Given the description of an element on the screen output the (x, y) to click on. 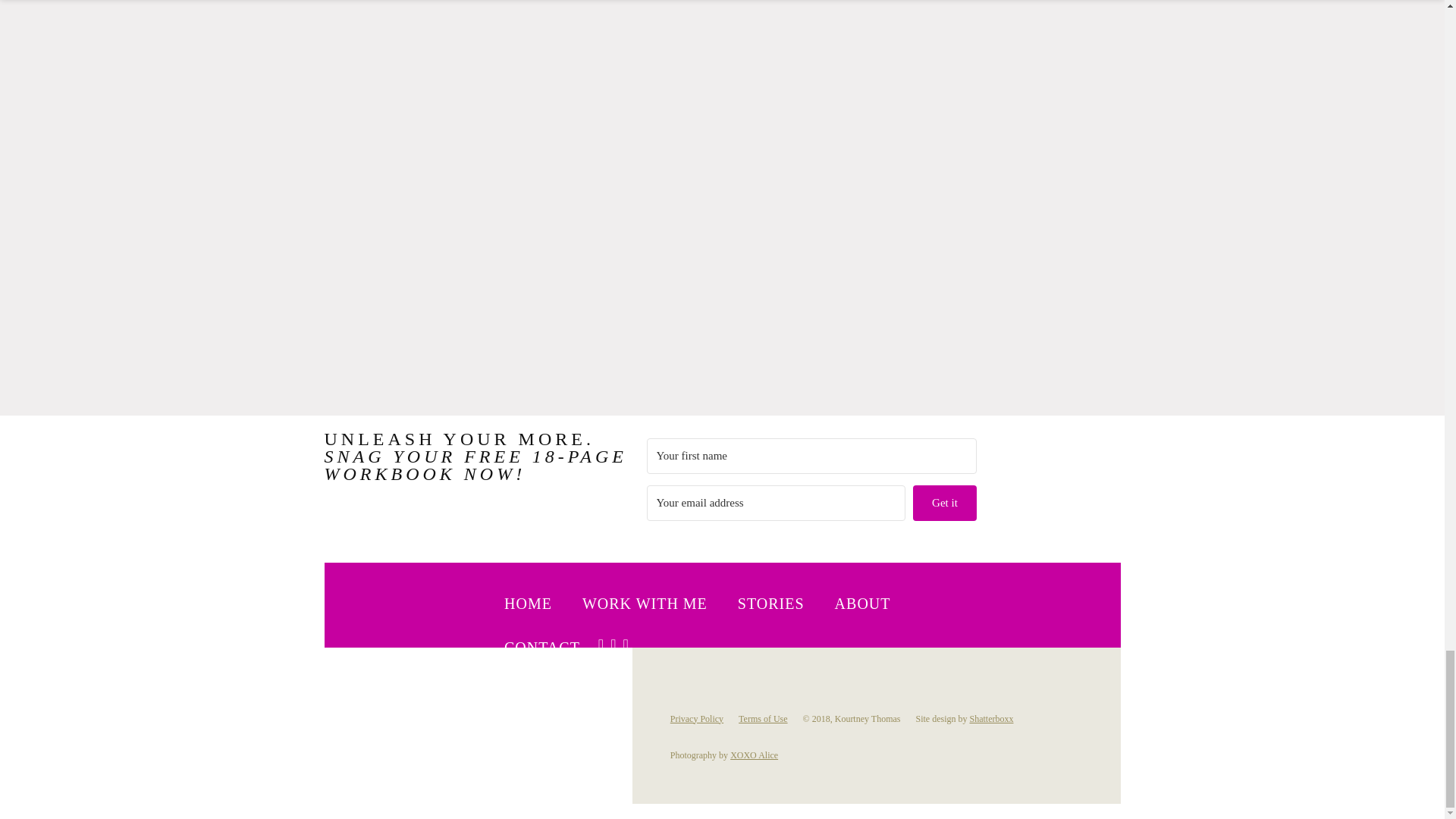
STORIES (771, 603)
Get it (943, 502)
ABOUT (862, 603)
Terms of Use (762, 718)
CONTACT (542, 647)
WORK WITH ME (644, 603)
XOXO Alice (753, 755)
HOME (527, 603)
Privacy Policy (696, 718)
Shatterboxx (991, 718)
